Given the description of an element on the screen output the (x, y) to click on. 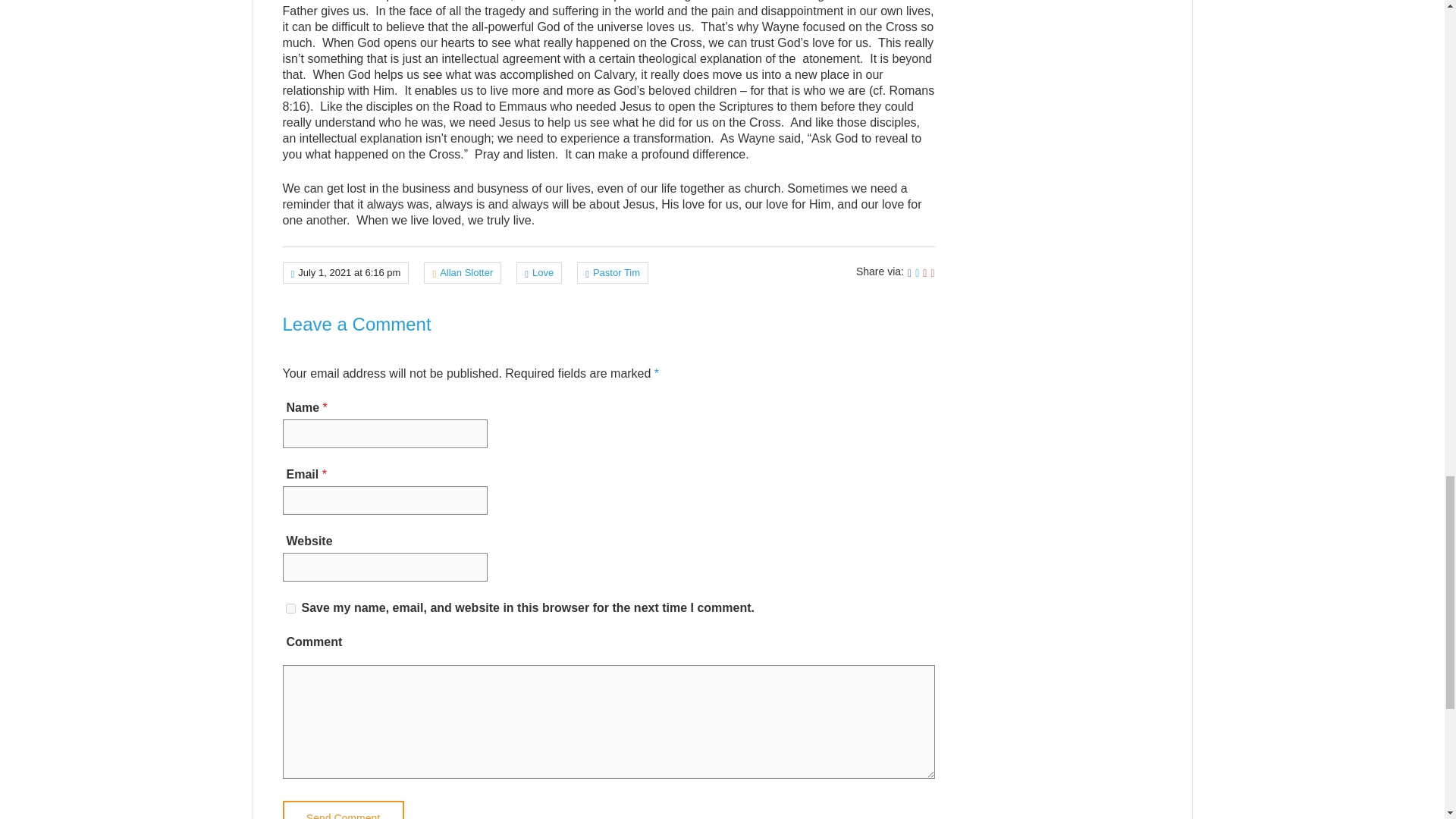
Allan Slotter (466, 272)
Send Comment (342, 809)
Pastor Tim (616, 272)
Love (542, 272)
yes (290, 608)
